Given the description of an element on the screen output the (x, y) to click on. 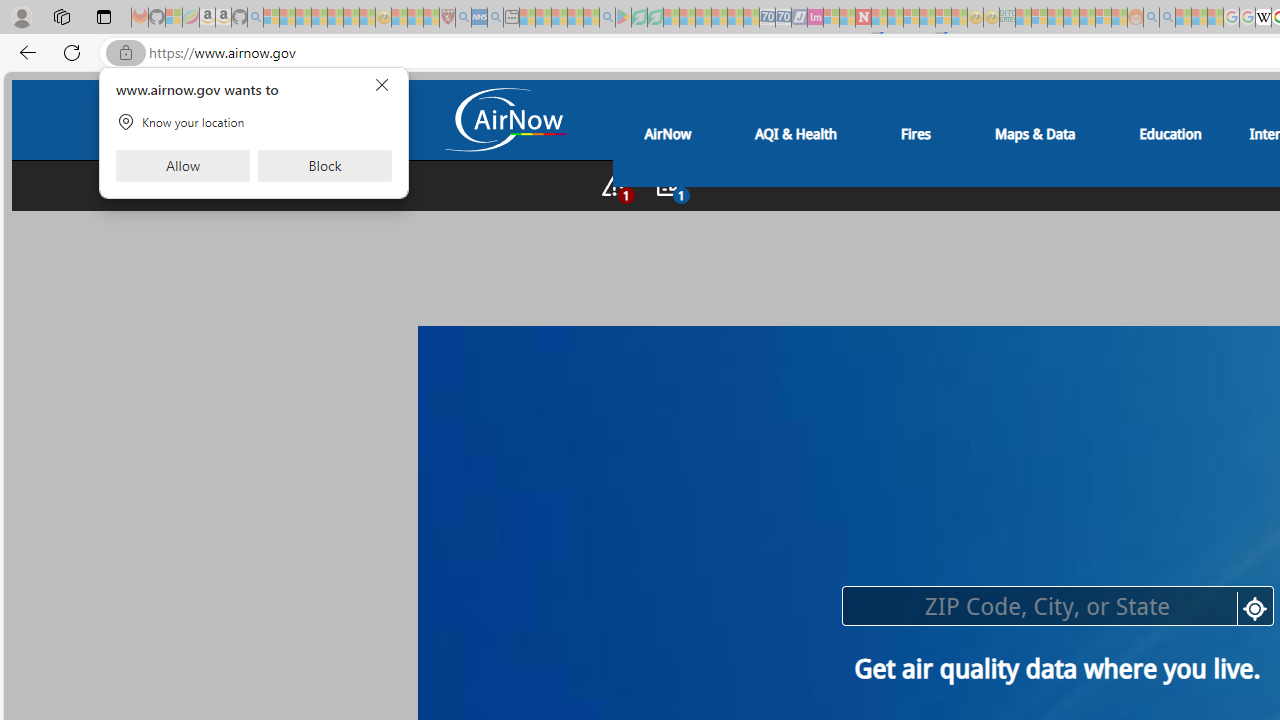
Air Now Logo (504, 119)
Allow (182, 165)
